Given the description of an element on the screen output the (x, y) to click on. 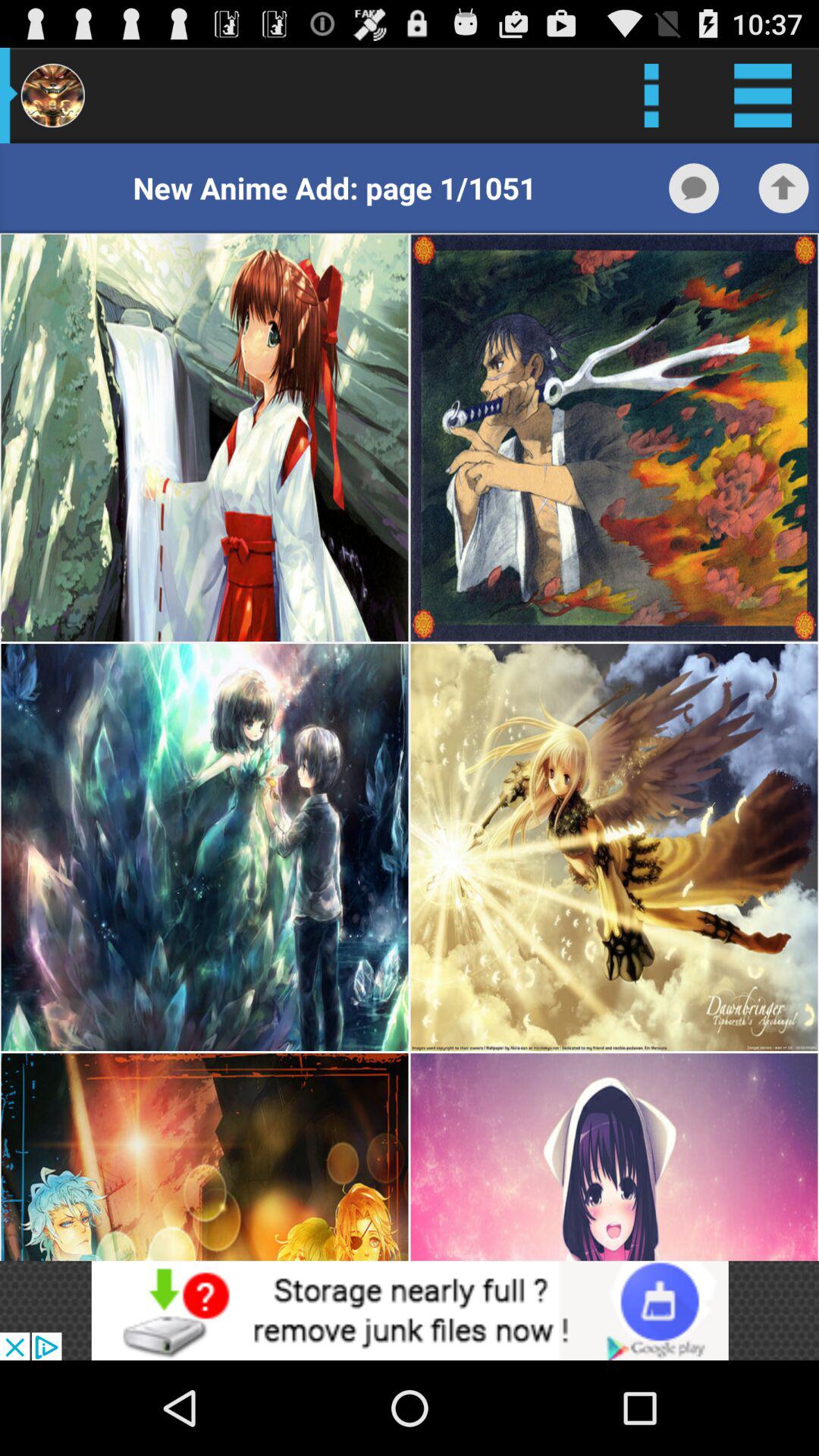
open webpage of displayed advertisement (409, 1310)
